Given the description of an element on the screen output the (x, y) to click on. 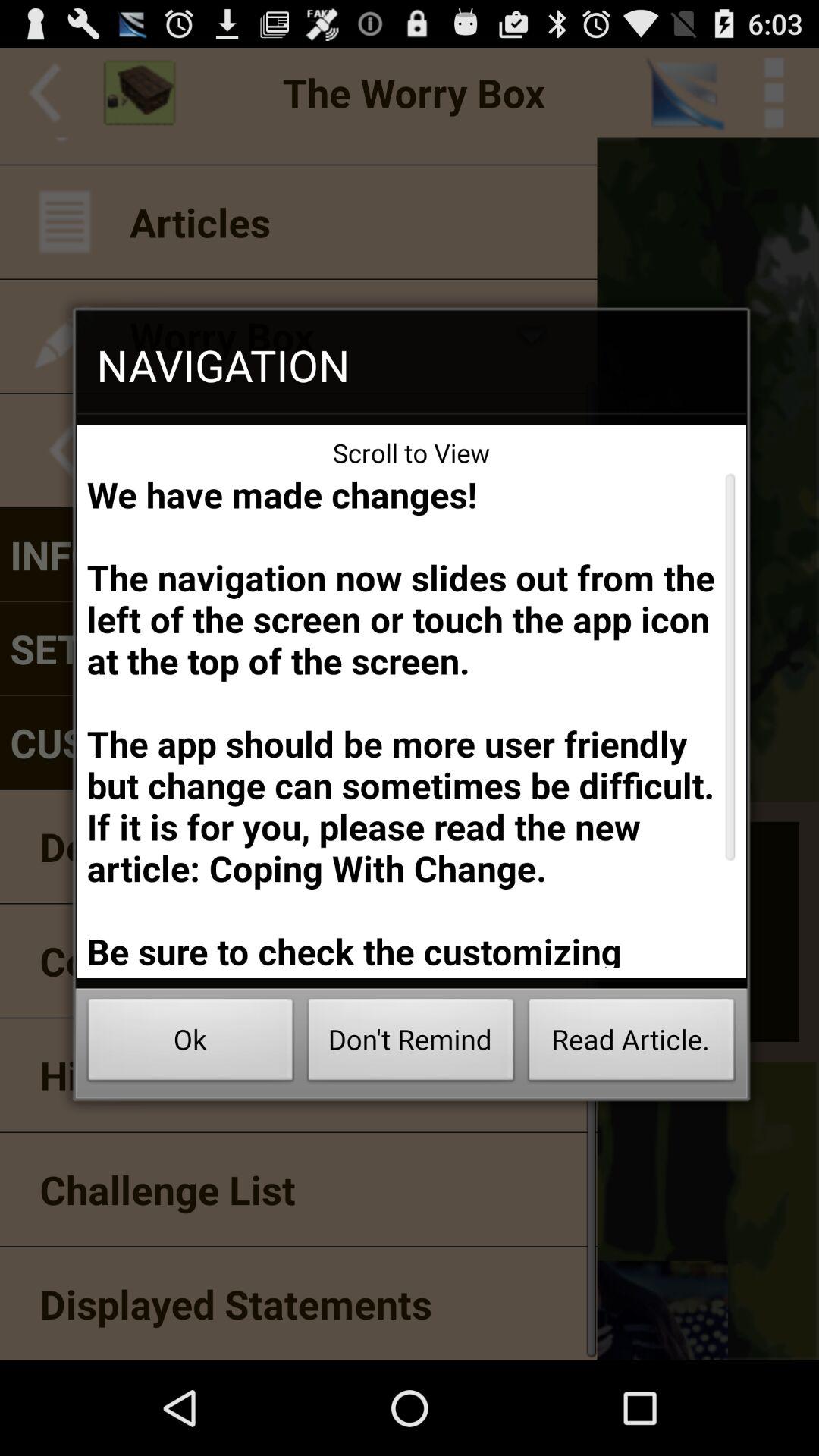
choose the ok item (190, 1044)
